Given the description of an element on the screen output the (x, y) to click on. 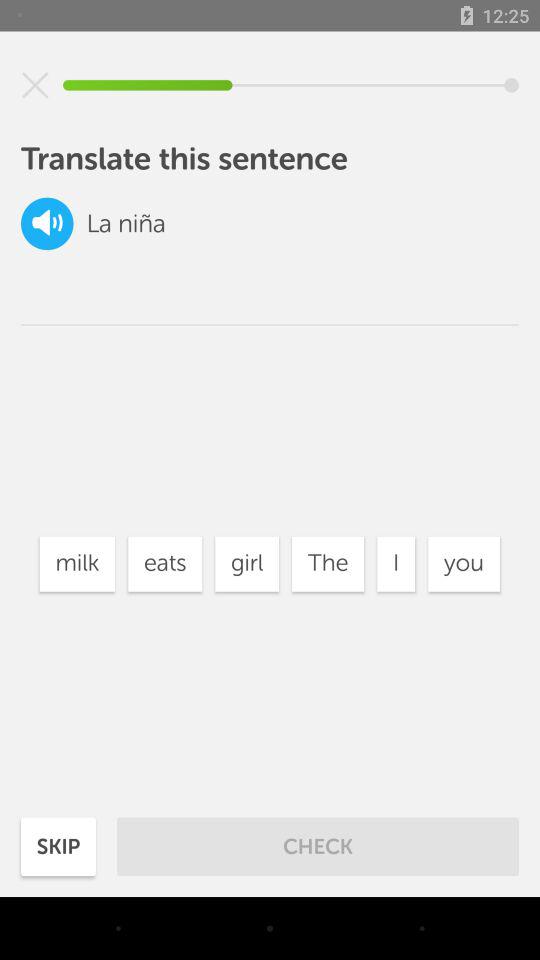
click icon to the right of milk item (165, 563)
